Given the description of an element on the screen output the (x, y) to click on. 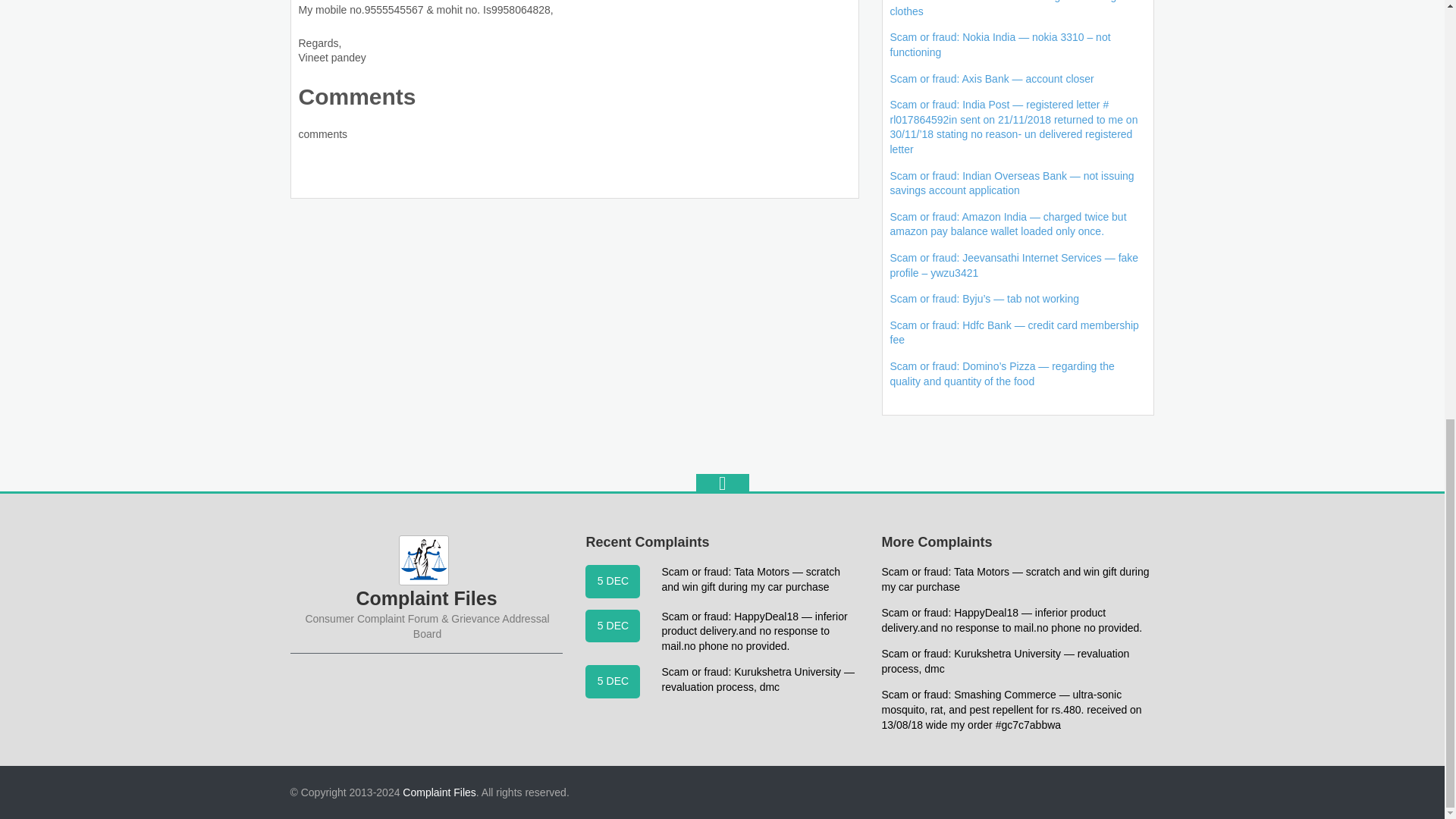
Complaint Files (439, 792)
5 DEC (612, 681)
5 DEC (612, 625)
Complaint Files (439, 792)
5 DEC (612, 581)
